Given the description of an element on the screen output the (x, y) to click on. 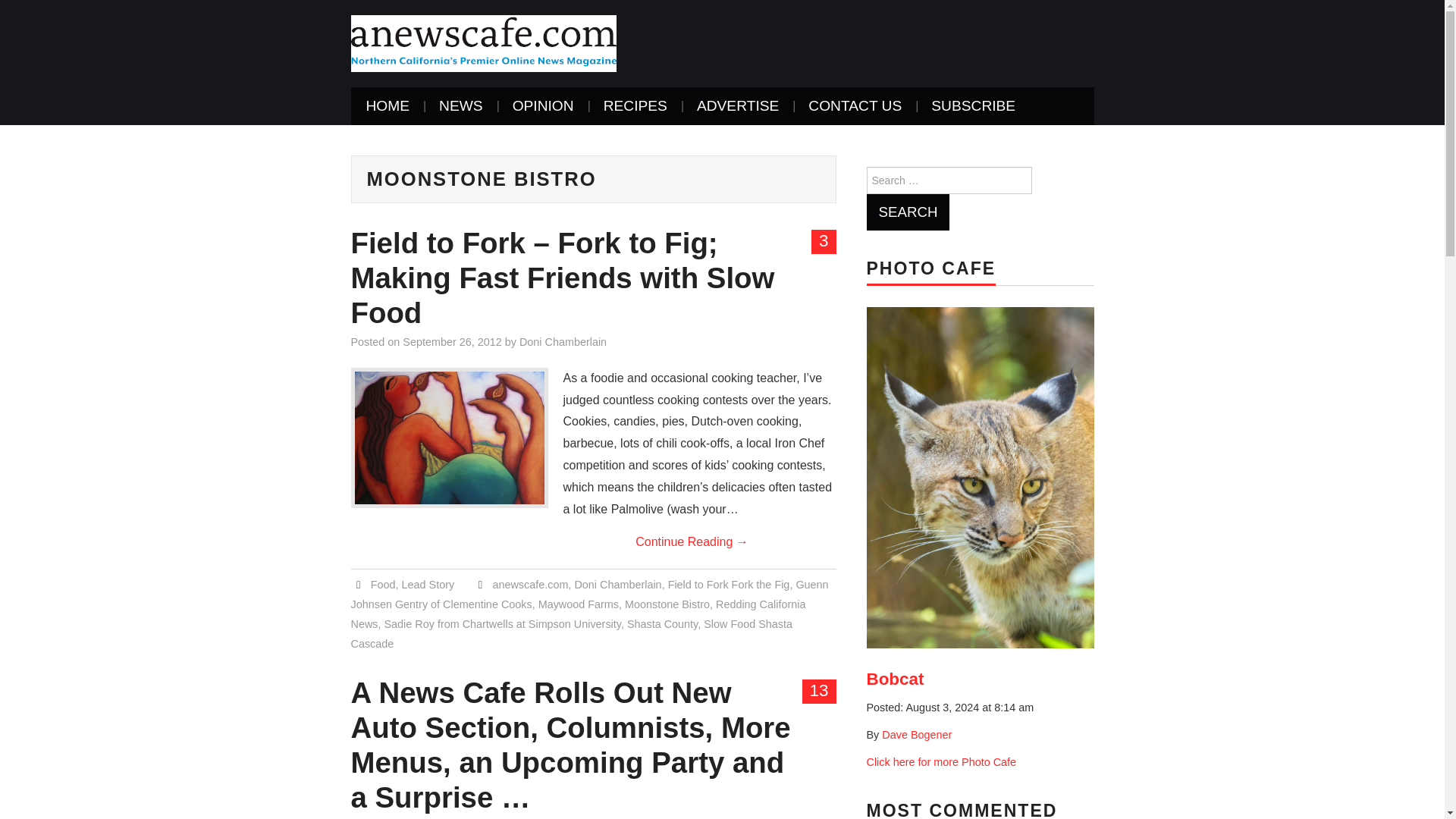
4:45 am (451, 341)
OPINION (543, 105)
September 26, 2012 (451, 341)
3 (822, 241)
SUBSCRIBE (972, 105)
Moonstone Bistro (667, 604)
View all posts by Doni Chamberlain (563, 341)
Sadie Roy from Chartwells at Simpson University (502, 623)
Lead Story (427, 584)
anewscafe.com (482, 42)
anewscafe.com (529, 584)
Doni Chamberlain (617, 584)
CONTACT US (855, 105)
Maywood Farms (578, 604)
Search (907, 212)
